Given the description of an element on the screen output the (x, y) to click on. 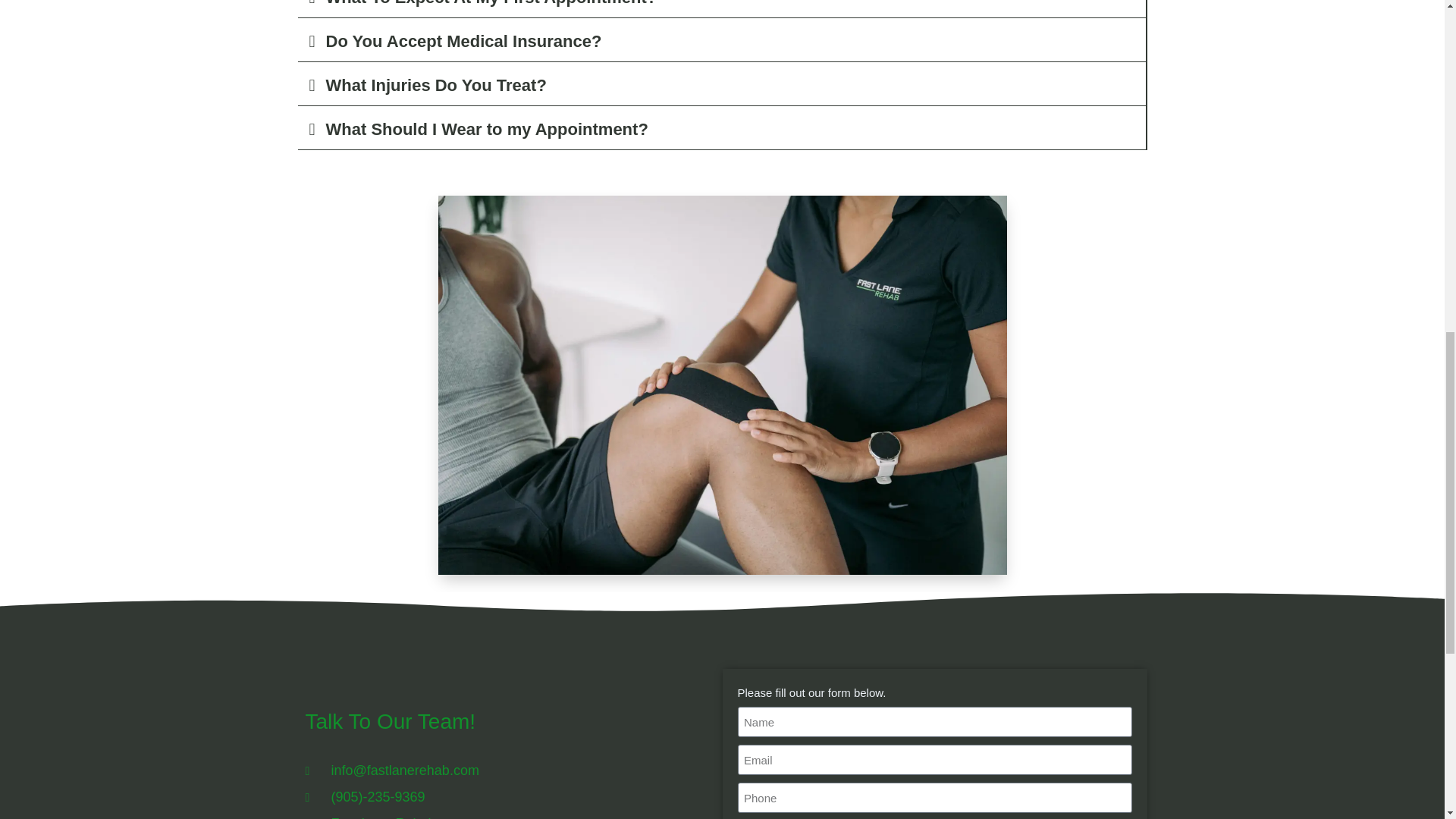
Do You Accept Medical Insurance? (464, 40)
What Injuries Do You Treat? (436, 85)
Fast Lane Rehab (499, 816)
What To Expect At My First Appointment? (492, 3)
What Should I Wear to my Appointment? (486, 128)
